Given the description of an element on the screen output the (x, y) to click on. 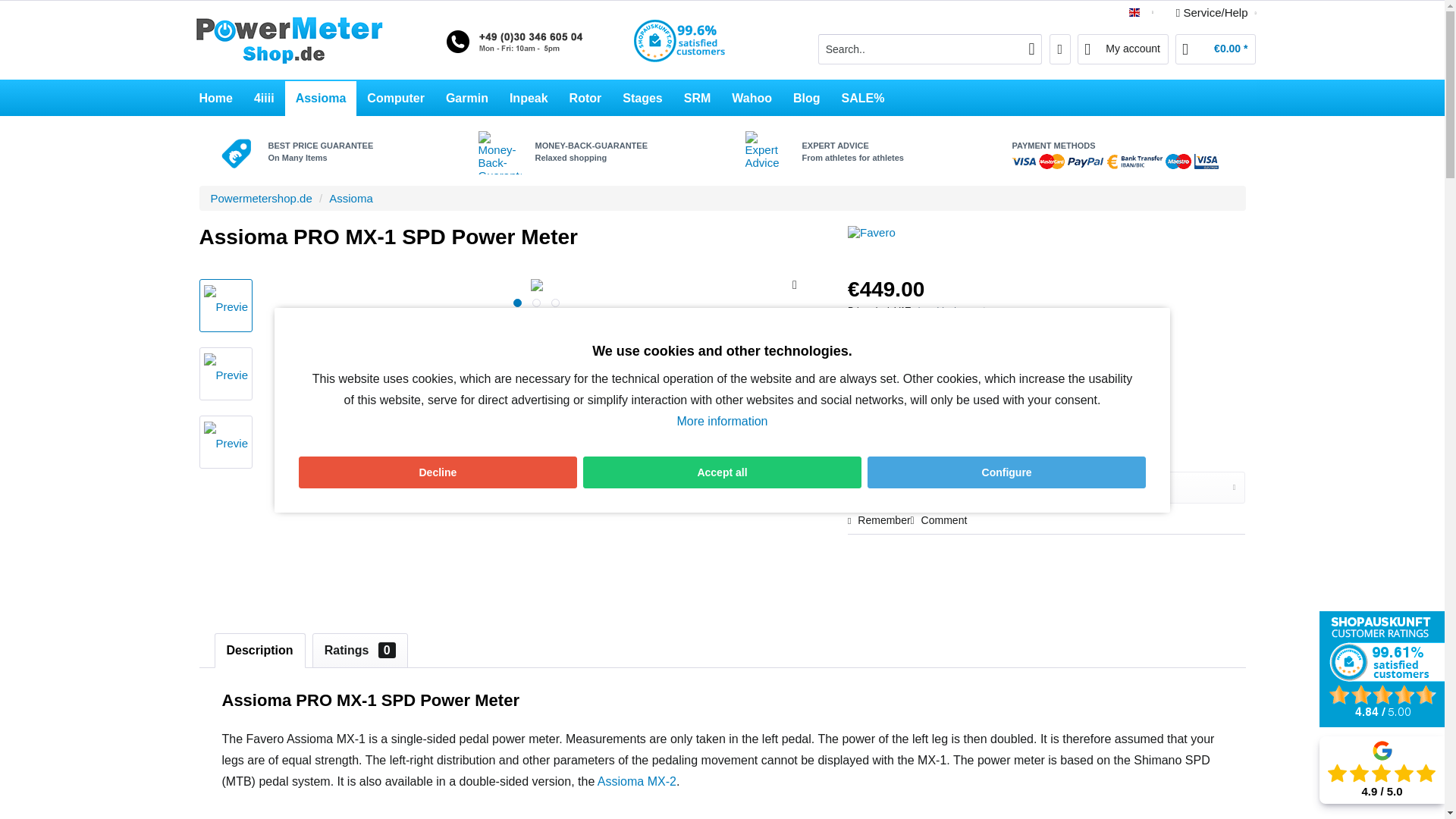
Rotor (585, 98)
Home (215, 98)
Inpeak (529, 98)
Computer (395, 98)
Rotor (585, 98)
Wahoo (751, 98)
4iiii (264, 98)
4iiii (264, 98)
Wahoo (751, 98)
Shopping cart (1214, 49)
